Given the description of an element on the screen output the (x, y) to click on. 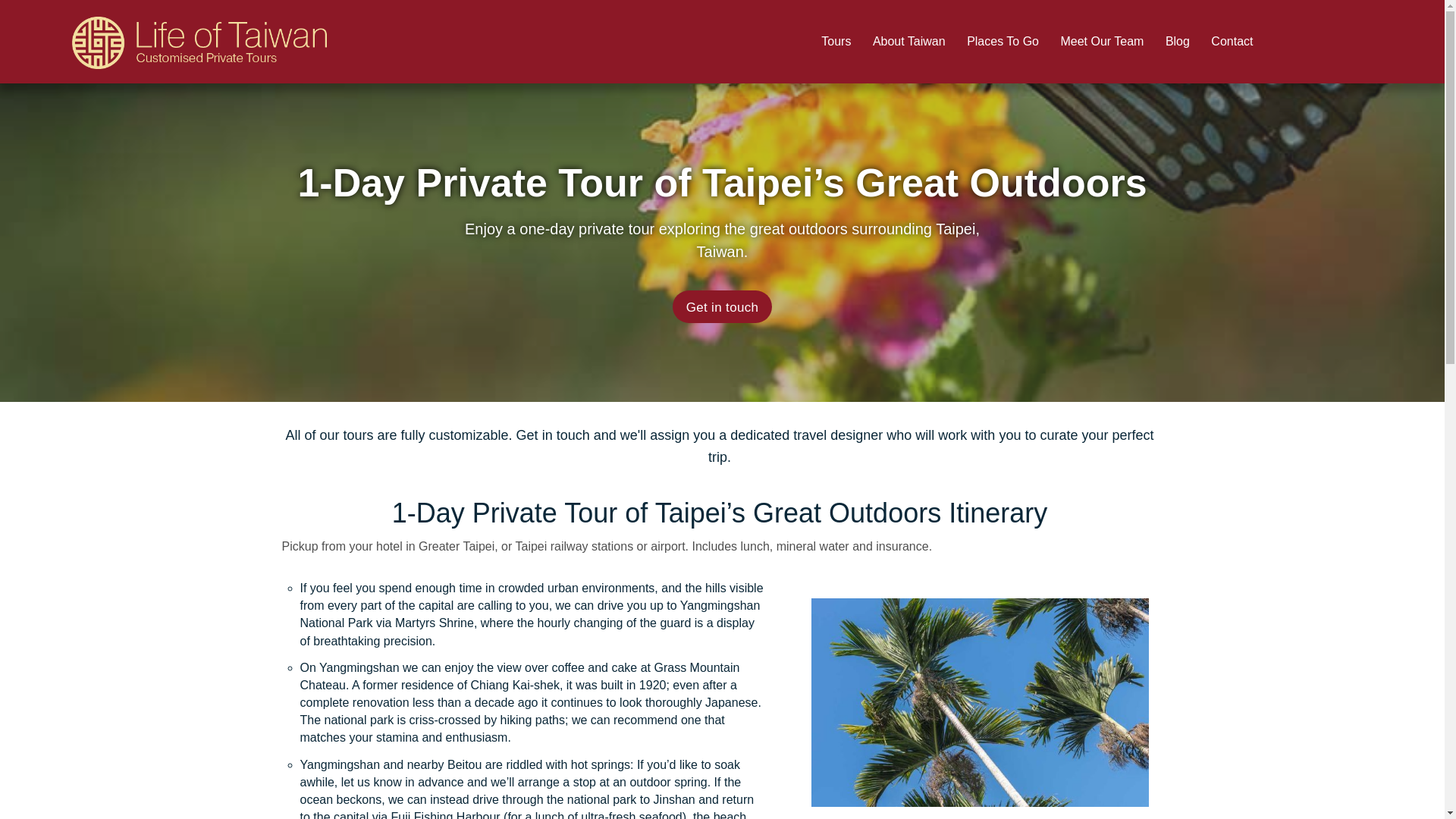
About Taiwan (909, 41)
About Taiwan (909, 41)
Life of Taiwan (200, 35)
Meet Our Team (1102, 41)
Get in touch (722, 305)
Places To Go (1003, 41)
